Given the description of an element on the screen output the (x, y) to click on. 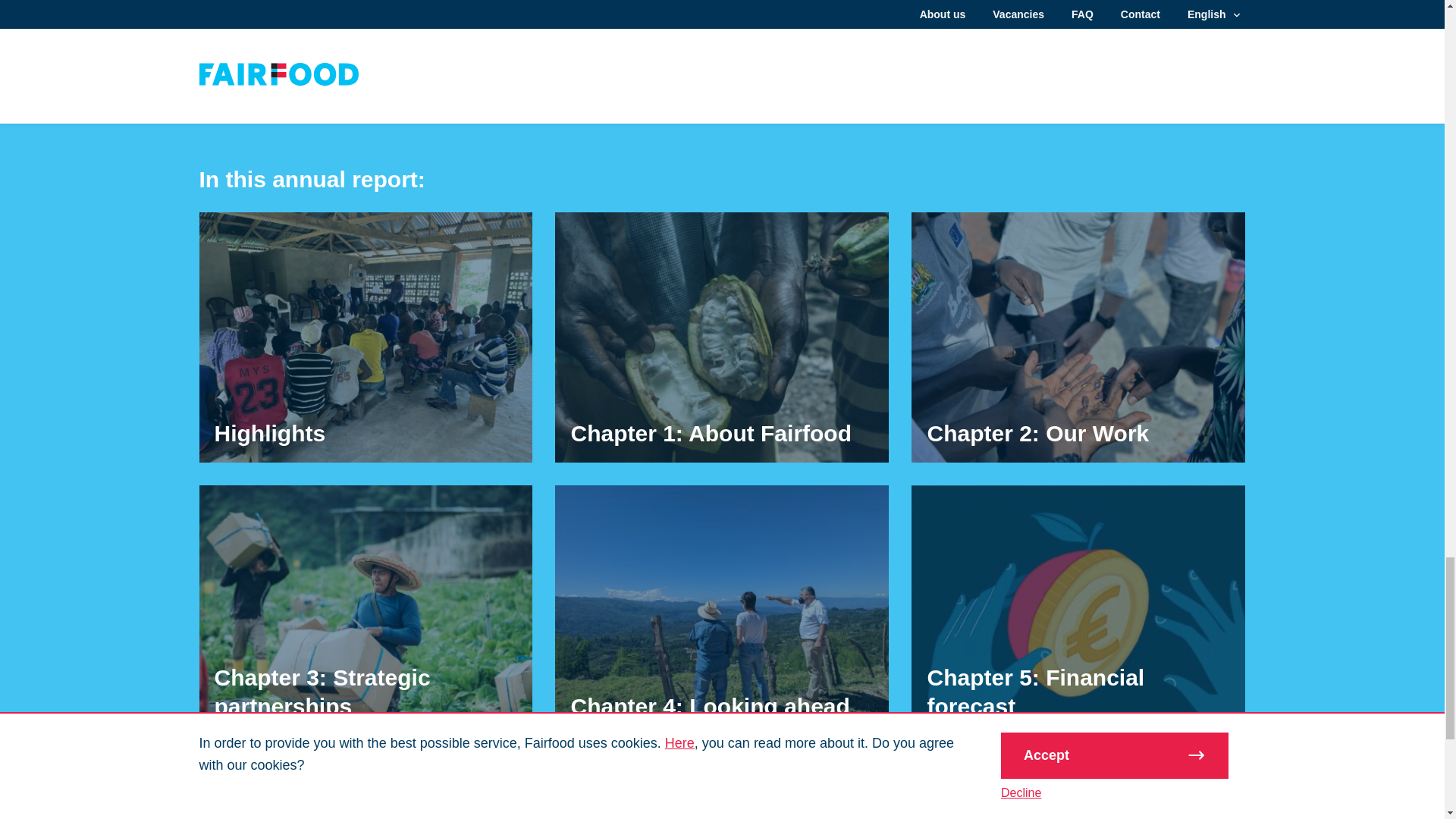
Chapter 4: Looking ahead (721, 610)
Chapter 1: About Fairfood (721, 337)
Financial statements (365, 788)
Chapter 2: Our Work (1077, 337)
Chapter 5: Financial forecast (1077, 610)
Chapter 3: Strategic partnerships (365, 610)
Highlights (365, 337)
